Given the description of an element on the screen output the (x, y) to click on. 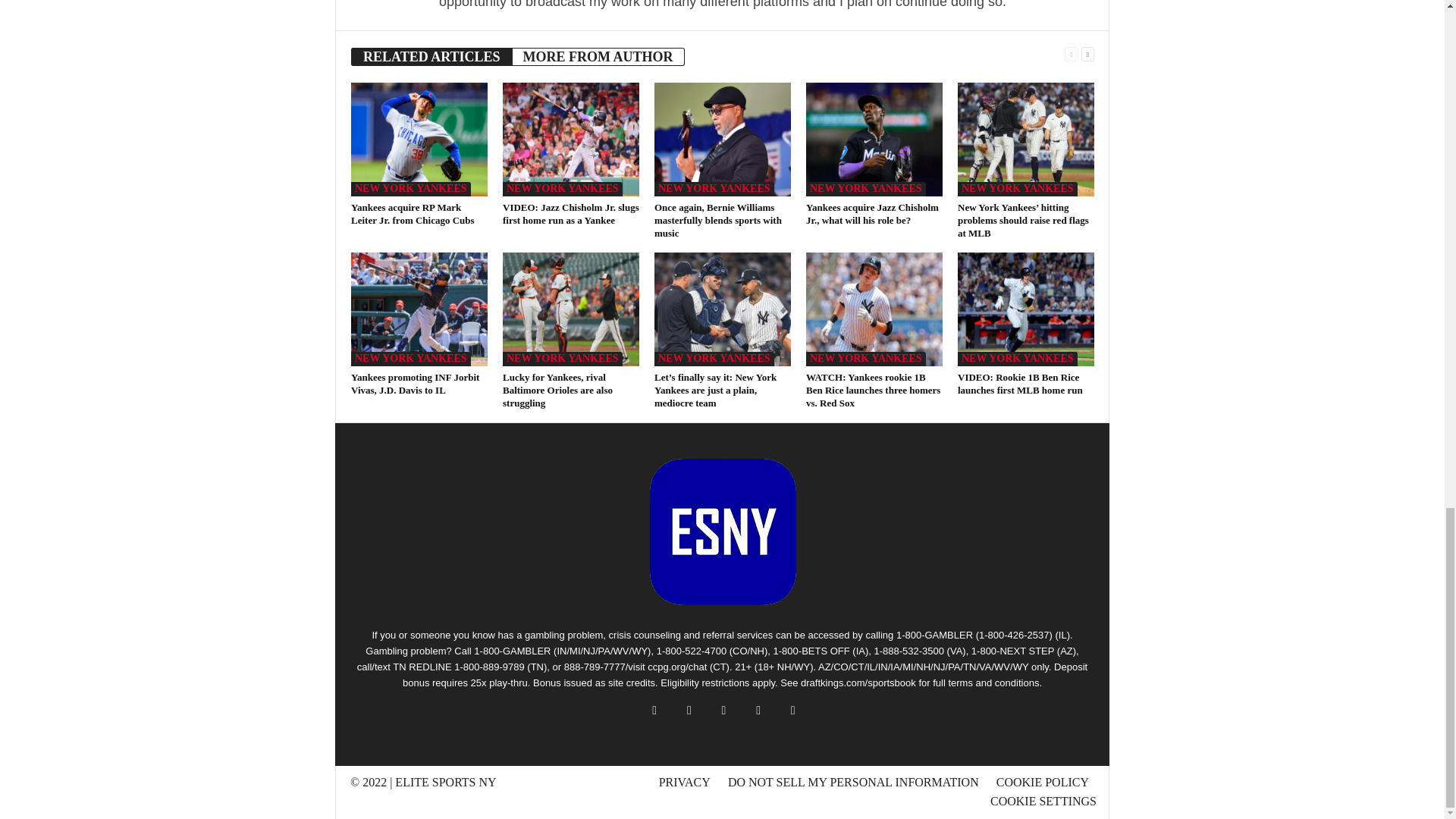
Yankees acquire RP Mark Leiter Jr. from Chicago Cubs (418, 139)
